Given the description of an element on the screen output the (x, y) to click on. 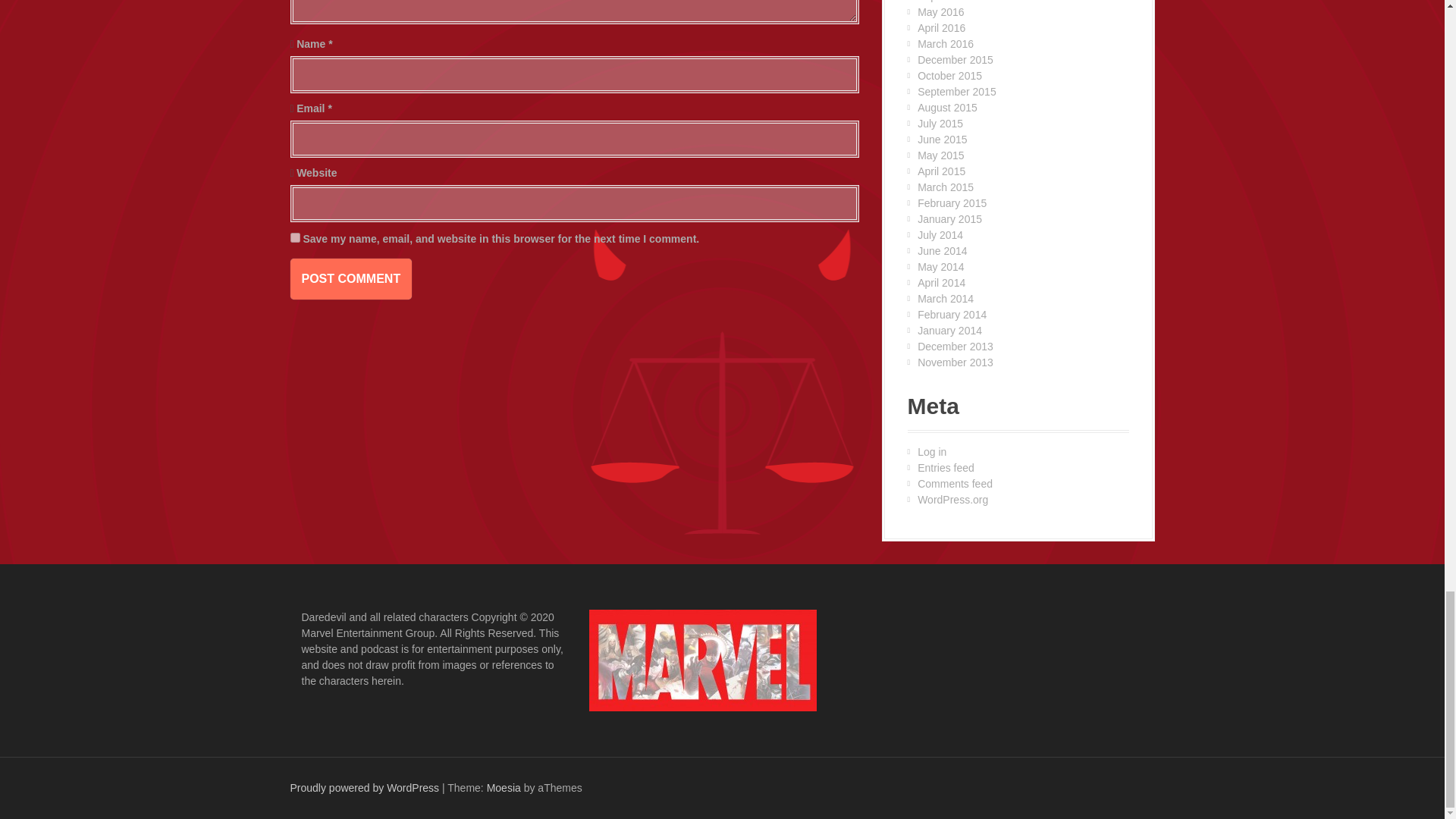
Post Comment (350, 278)
Post Comment (350, 278)
yes (294, 237)
